Given the description of an element on the screen output the (x, y) to click on. 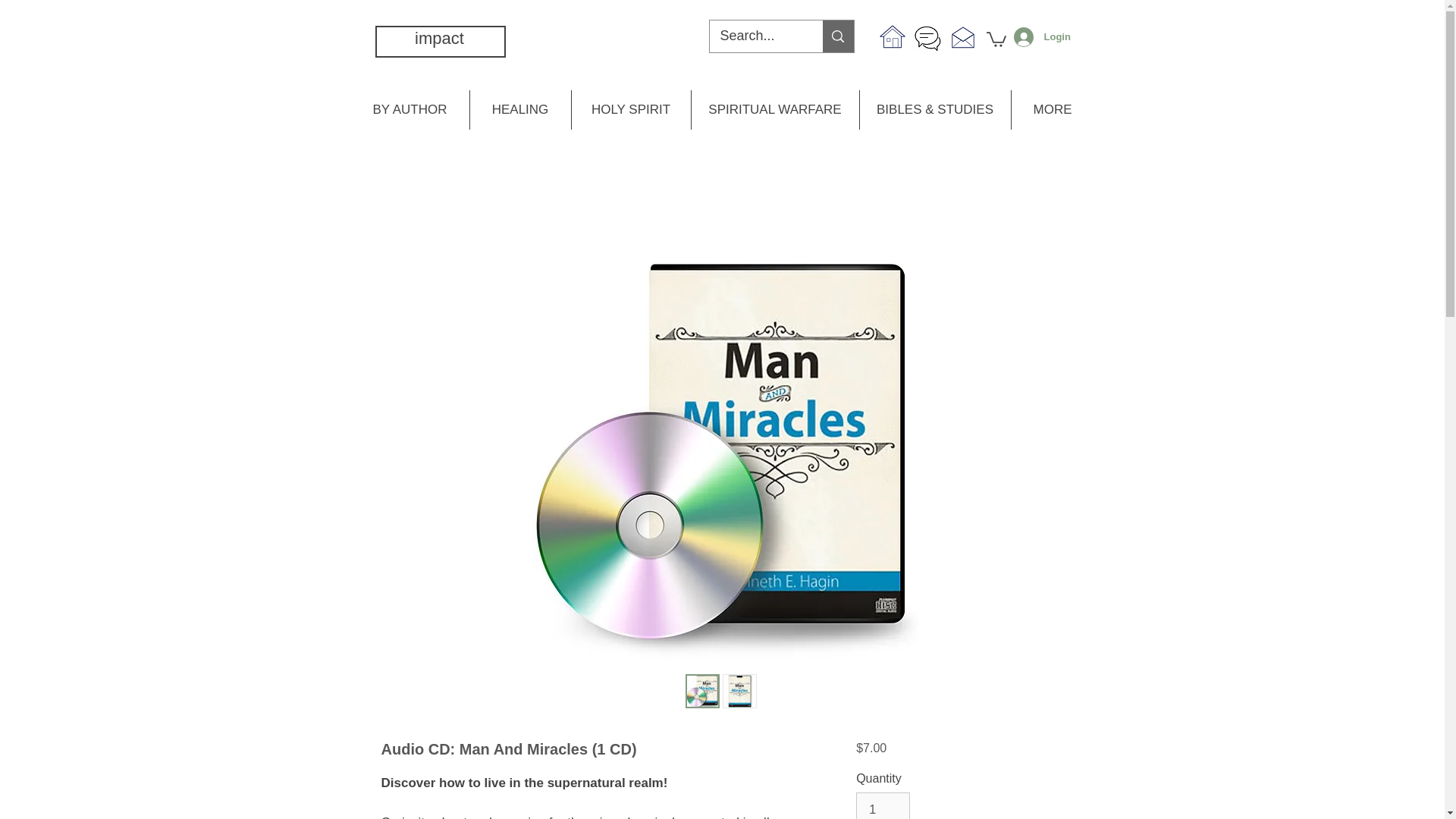
HEALING (519, 109)
Login (1036, 36)
1 (883, 805)
SPIRITUAL WARFARE (774, 109)
chat (926, 38)
HOLY SPIRIT (630, 109)
impact (439, 37)
